Given the description of an element on the screen output the (x, y) to click on. 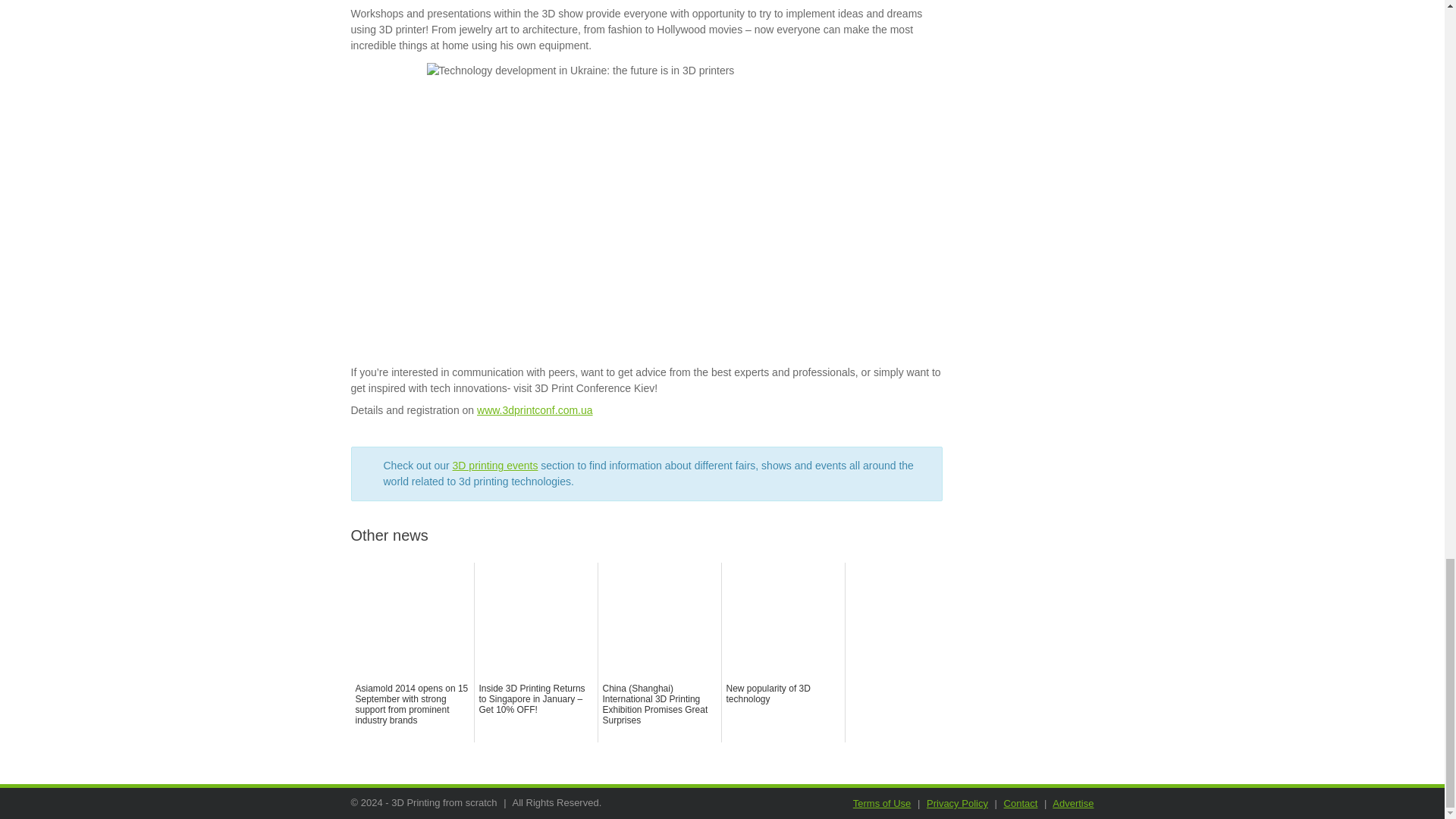
Privacy Policy (957, 803)
3D printing events (495, 465)
3D Print Conference Kiev (534, 410)
www.3dprintconf.com.ua (534, 410)
Contact (1021, 803)
Terms of Use (882, 803)
